Given the description of an element on the screen output the (x, y) to click on. 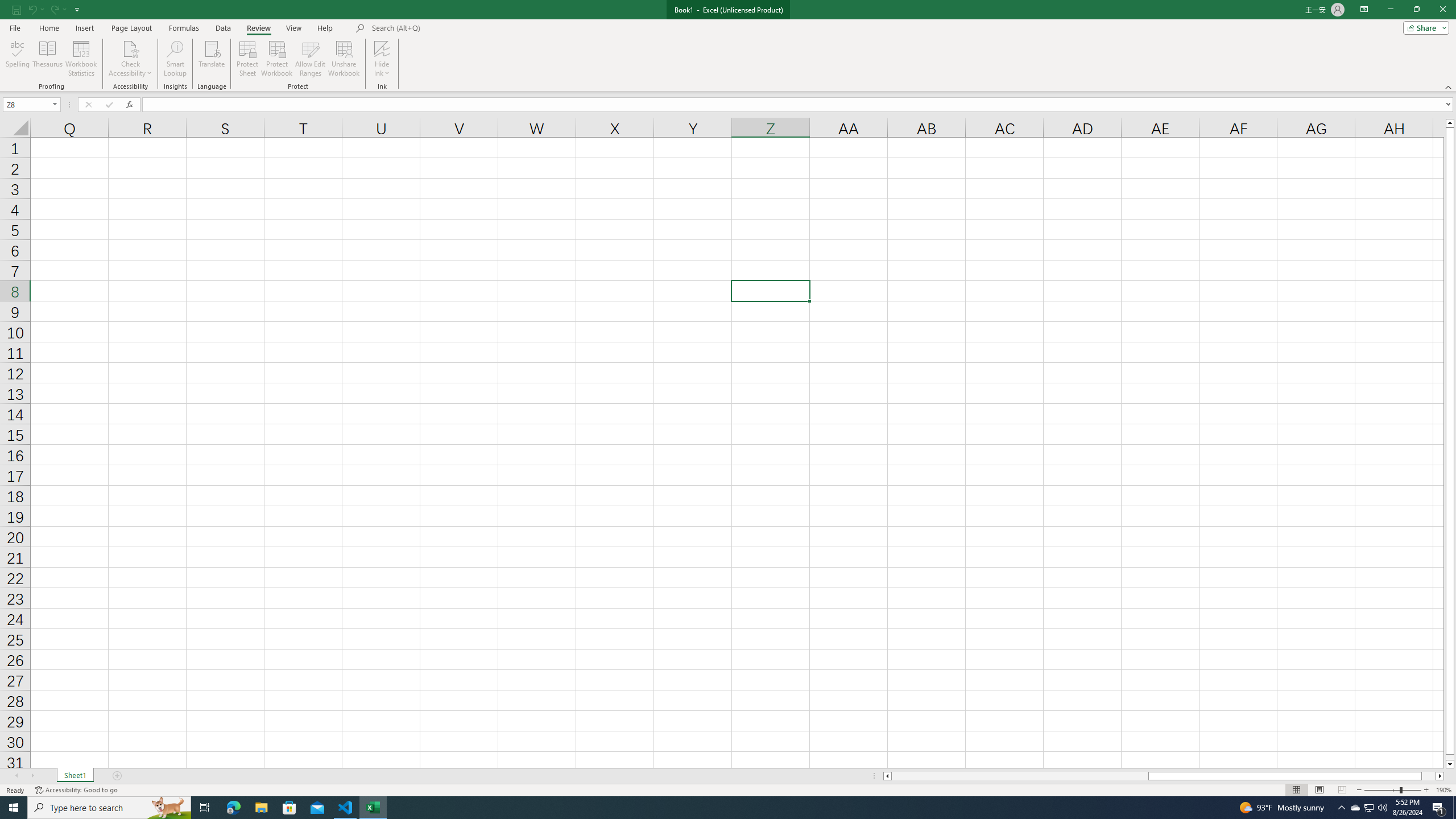
Workbook Statistics (81, 58)
Unshare Workbook (344, 58)
Protect Workbook... (277, 58)
